Given the description of an element on the screen output the (x, y) to click on. 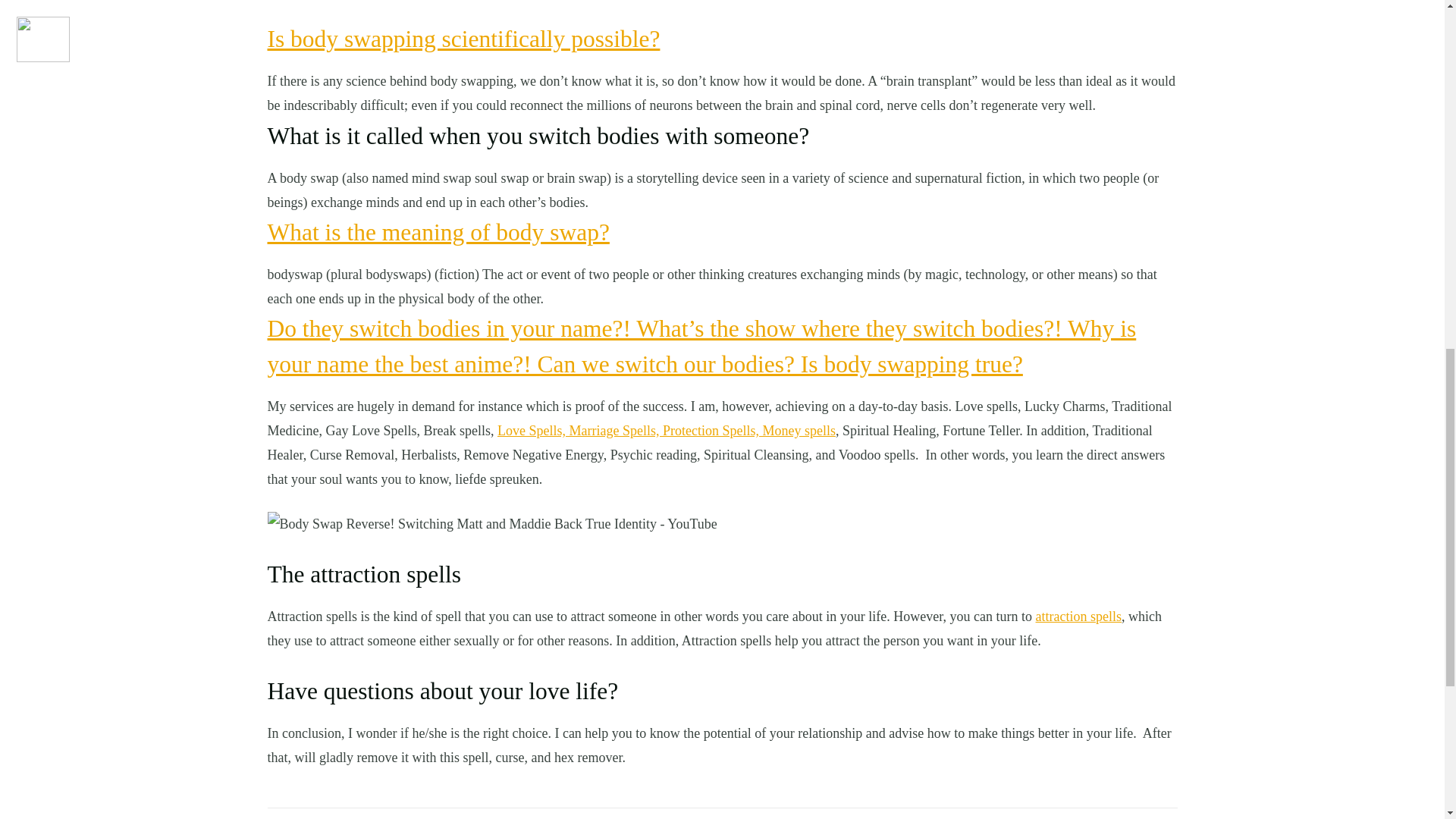
Is body swapping scientifically possible? (462, 38)
What is the meaning of body swap? (437, 232)
attraction spells (1078, 616)
